Given the description of an element on the screen output the (x, y) to click on. 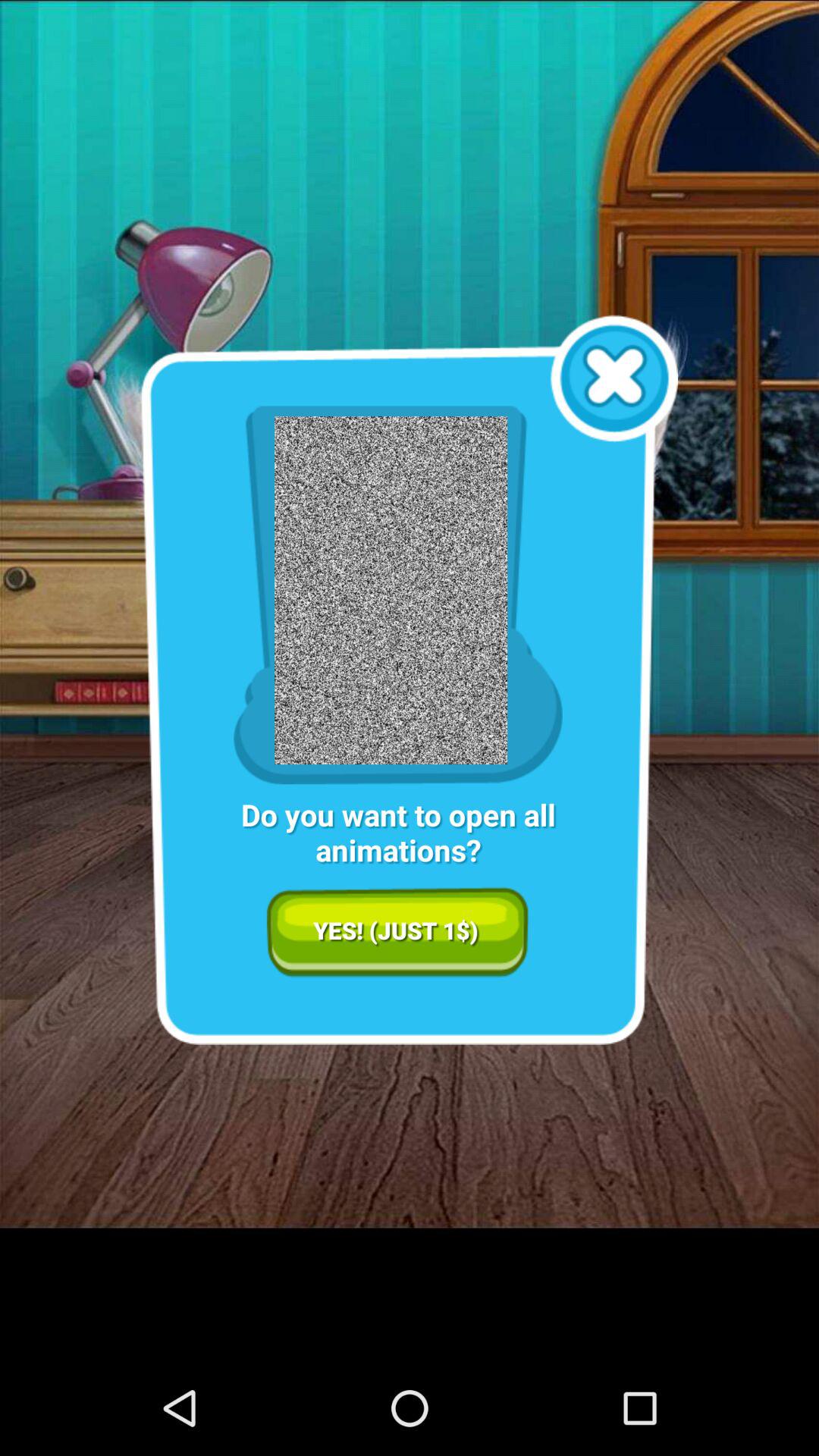
press the yes! (just 1$) button (397, 931)
